Given the description of an element on the screen output the (x, y) to click on. 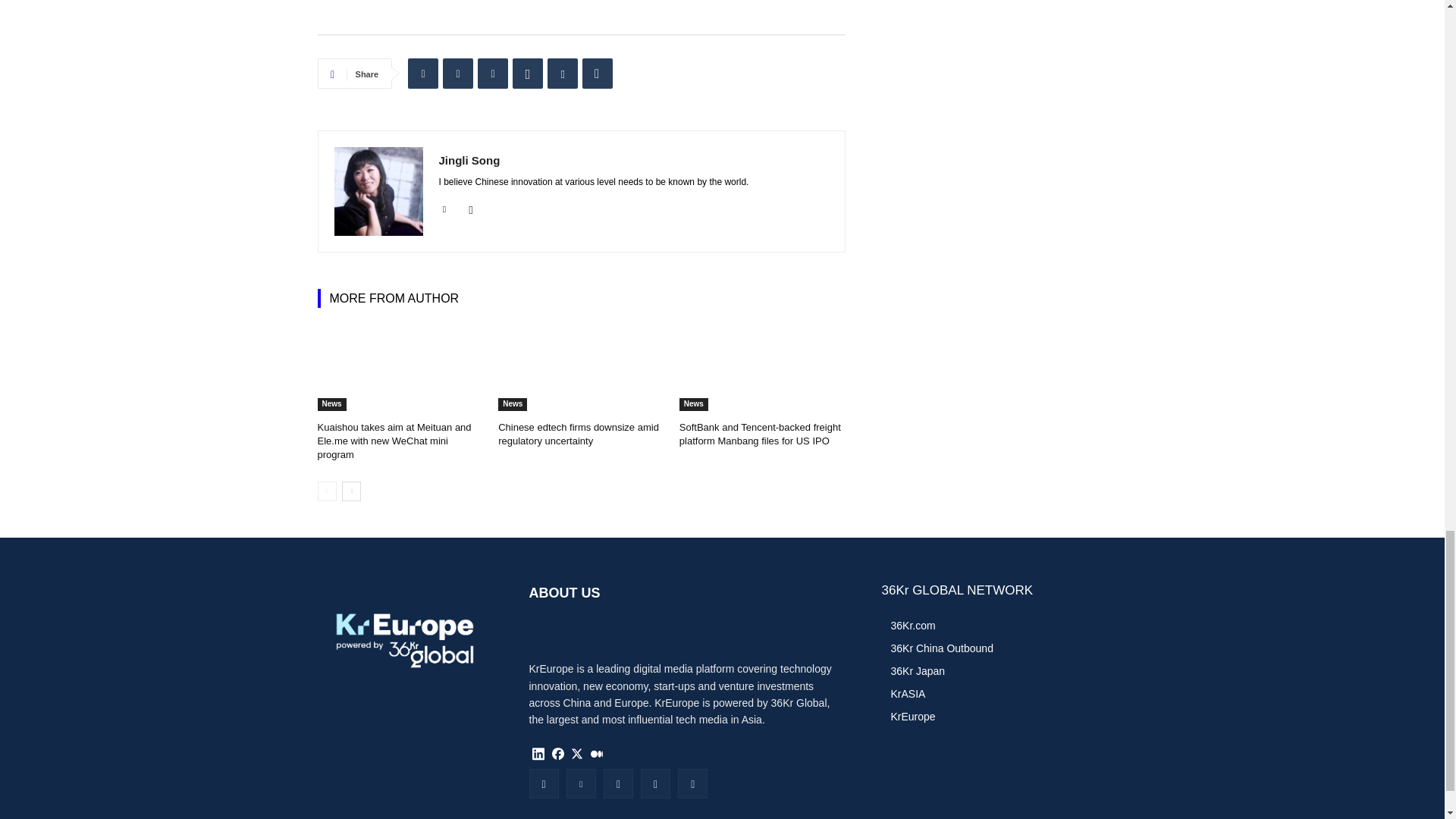
Copy URL (597, 73)
Email (562, 73)
Jingli Song (377, 191)
Twitter (457, 73)
Linkedin (443, 206)
WhatsApp (527, 73)
Linkedin (422, 73)
Mail (471, 206)
Facebook (492, 73)
